Given the description of an element on the screen output the (x, y) to click on. 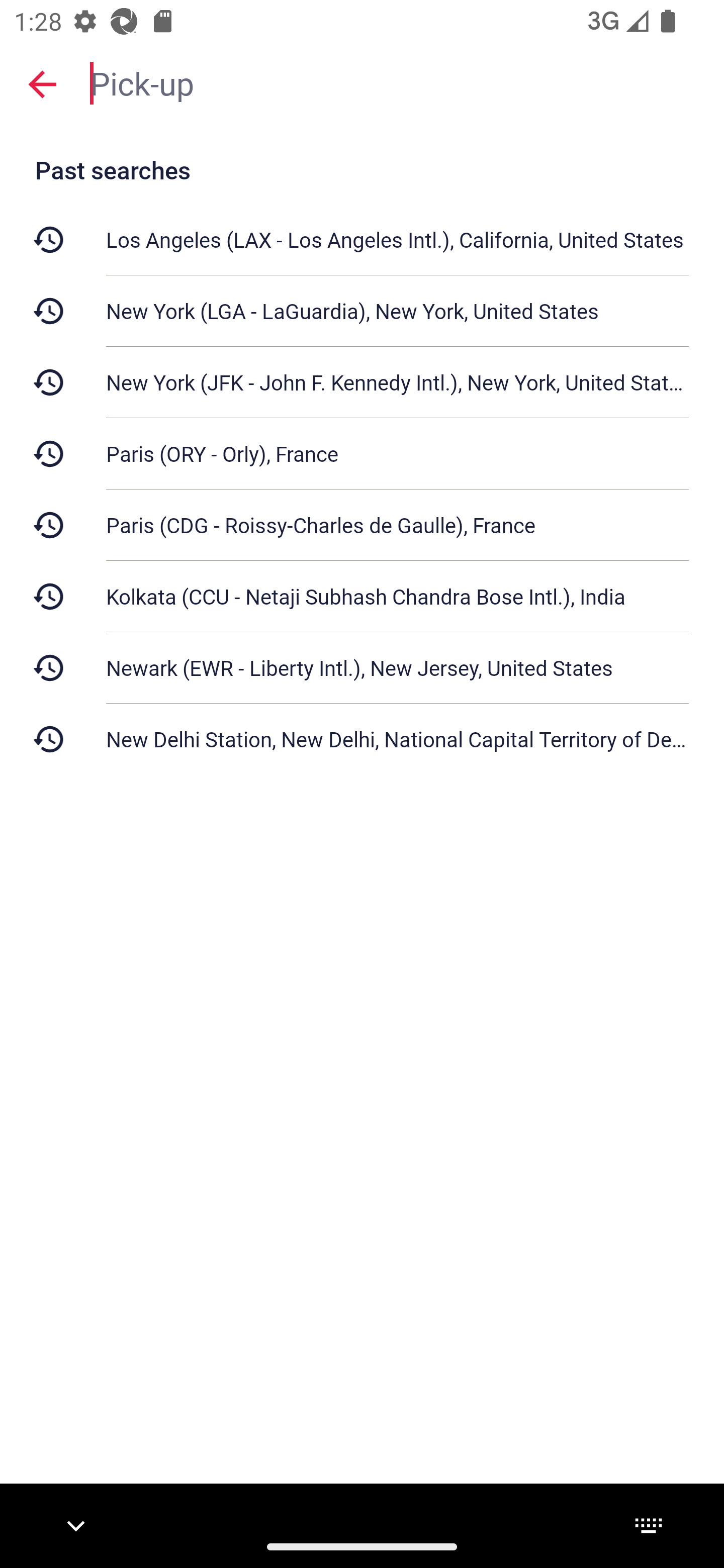
Close search screen (42, 84)
Pick-up,  (397, 82)
